Given the description of an element on the screen output the (x, y) to click on. 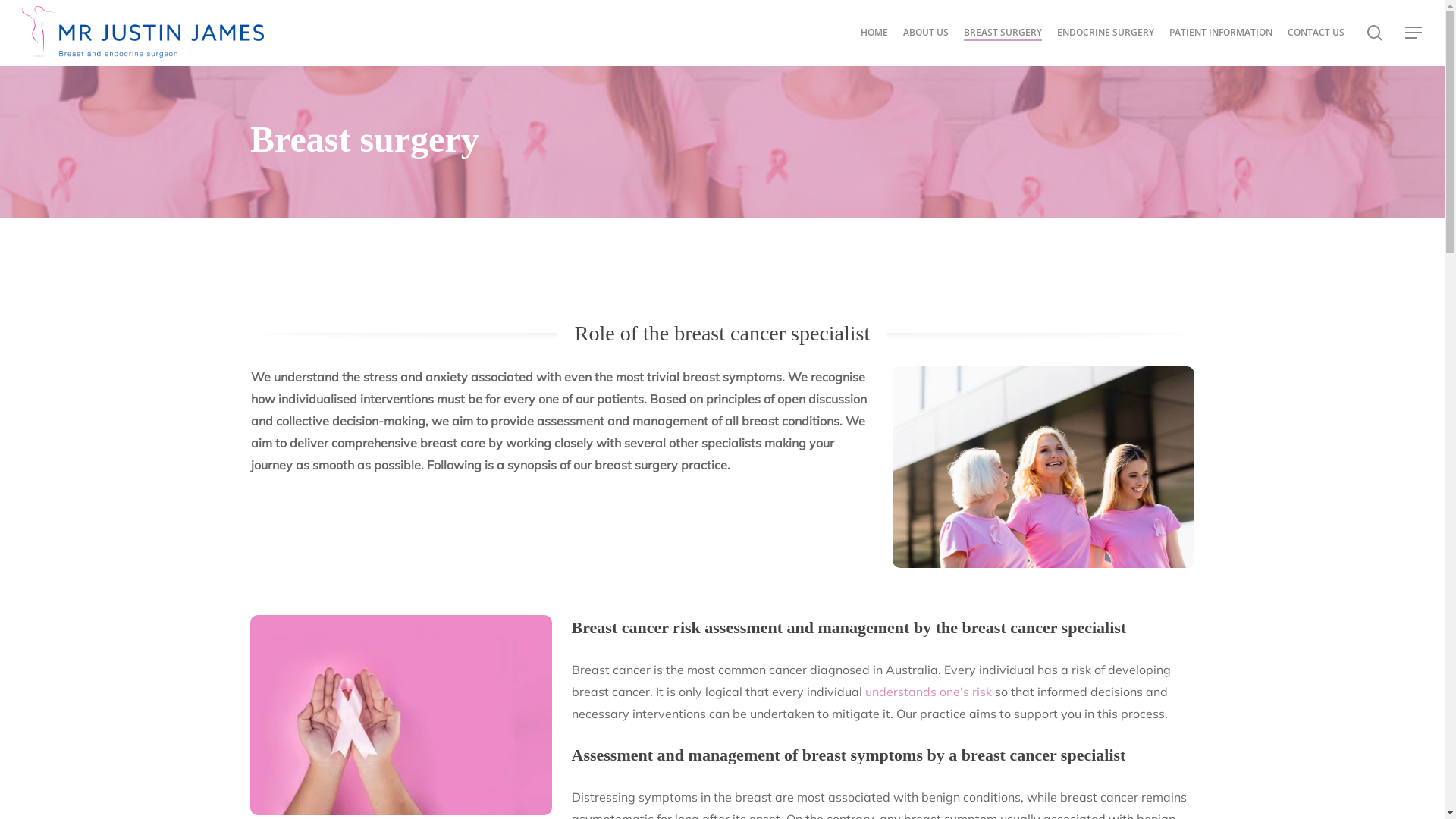
search Element type: text (1374, 32)
ENDOCRINE SURGERY Element type: text (1105, 32)
CONTACT US Element type: text (1315, 32)
BREAST SURGERY Element type: text (1002, 32)
ABOUT US Element type: text (925, 32)
Menu Element type: text (1414, 32)
PATIENT INFORMATION Element type: text (1220, 32)
HOME Element type: text (874, 32)
